Given the description of an element on the screen output the (x, y) to click on. 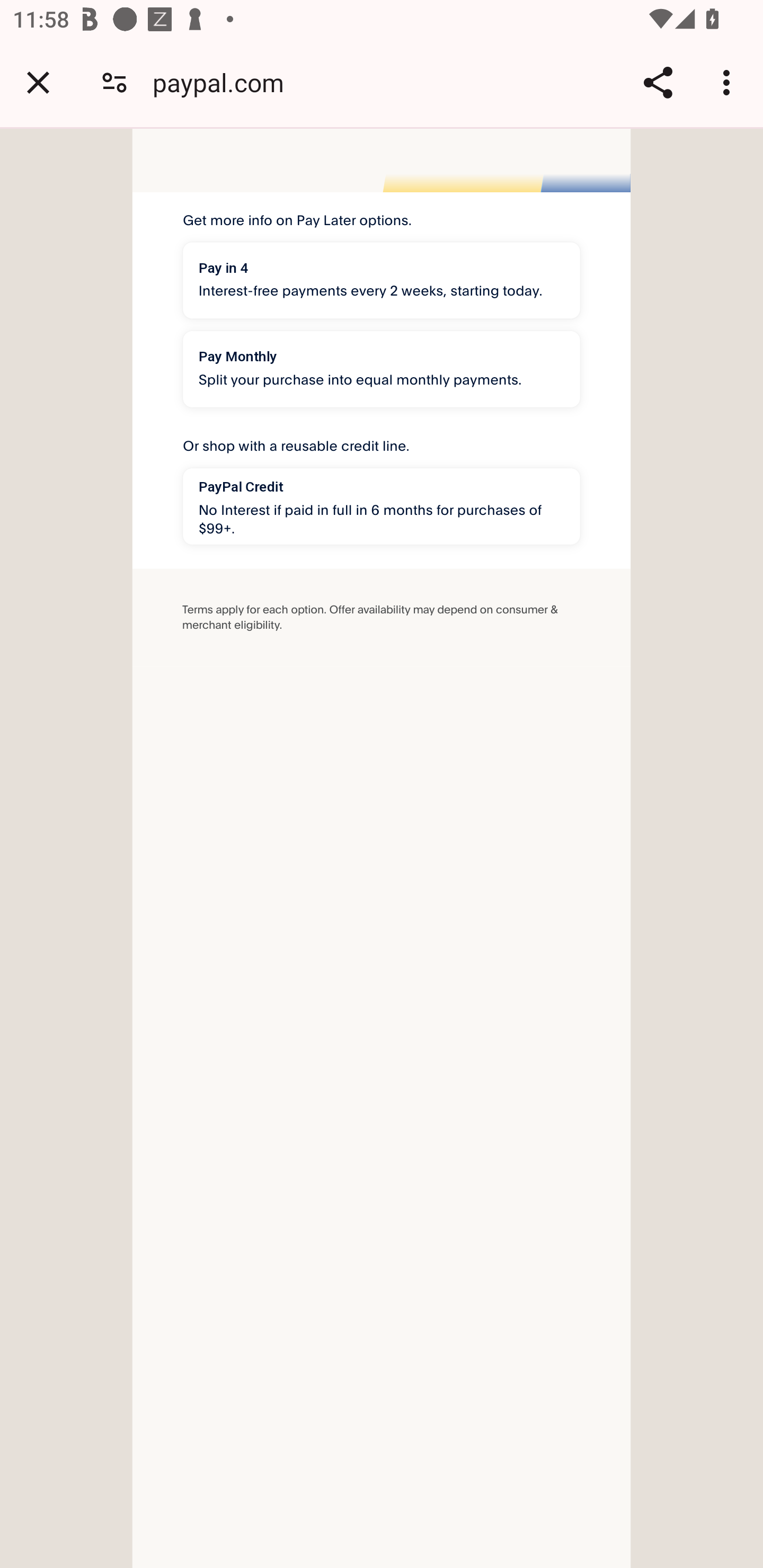
Close tab (38, 82)
Share (657, 82)
Customize and control Google Chrome (729, 82)
Connection is secure (114, 81)
paypal.com (224, 81)
